Given the description of an element on the screen output the (x, y) to click on. 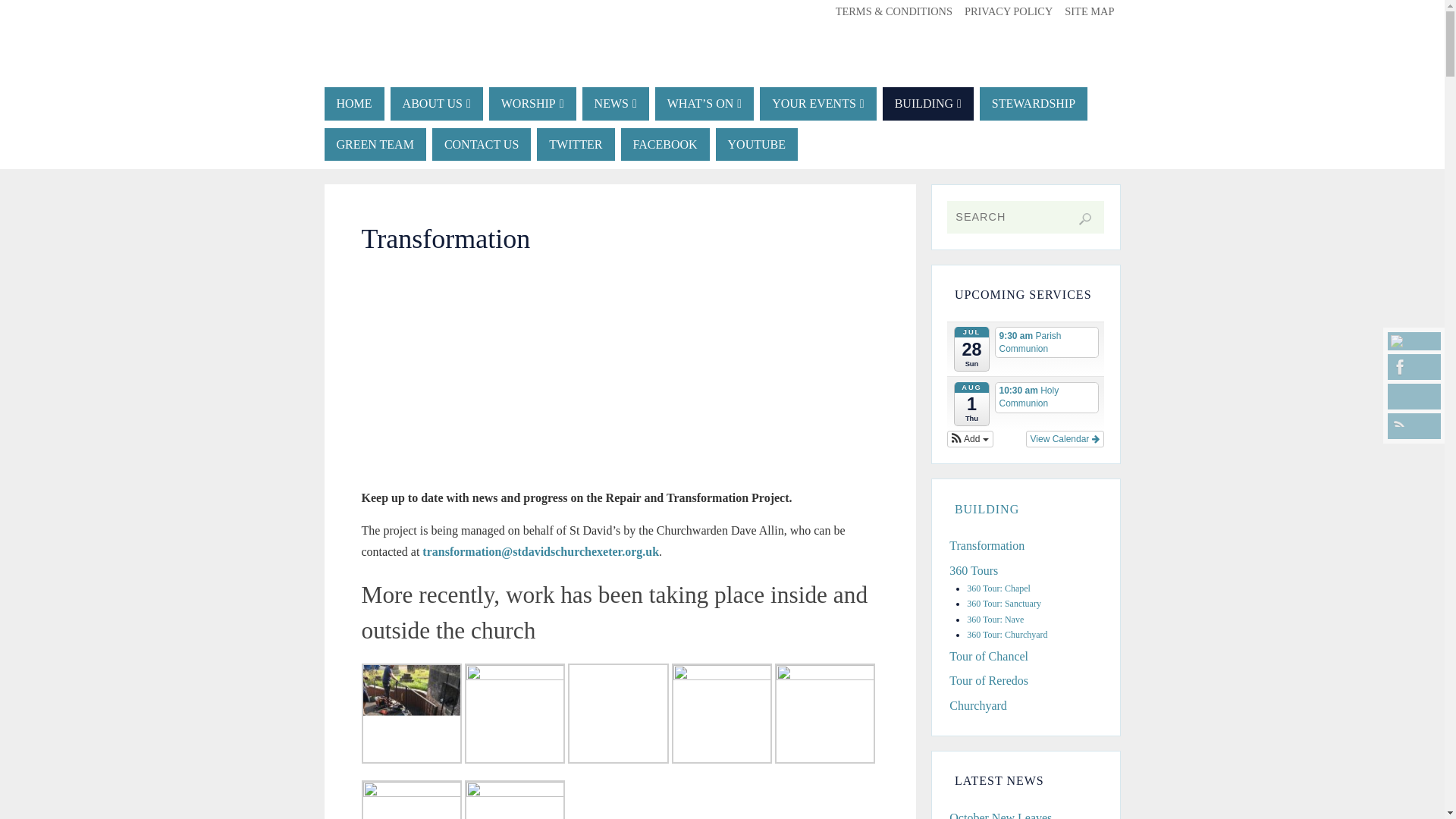
YouTube (1414, 396)
HOME (354, 102)
WORSHIP (532, 102)
Twitter (1414, 341)
ABOUT US (436, 102)
YOUR EVENTS (818, 102)
St David's Church, Exeter (722, 98)
Facebook (1414, 366)
PRIVACY POLICY (1008, 11)
NEWS (615, 102)
RSS feed (1414, 425)
SITE MAP (1089, 11)
